Given the description of an element on the screen output the (x, y) to click on. 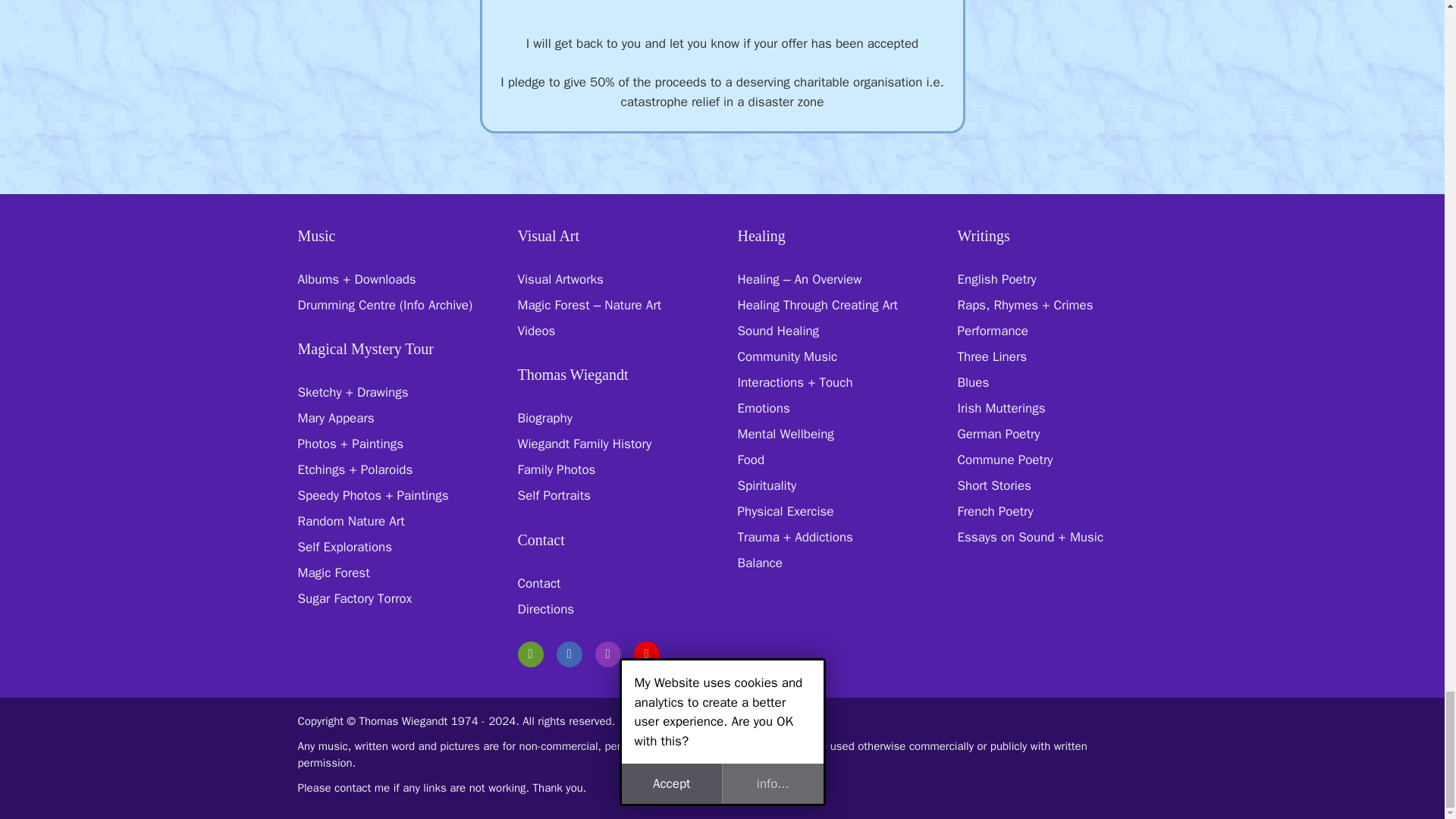
Biography for Thomas Wiegandt (544, 417)
Follow us on Instagram (607, 654)
Follow us on YouTube (646, 654)
Follow us on Facebook (569, 654)
Contact me by email (529, 654)
